Given the description of an element on the screen output the (x, y) to click on. 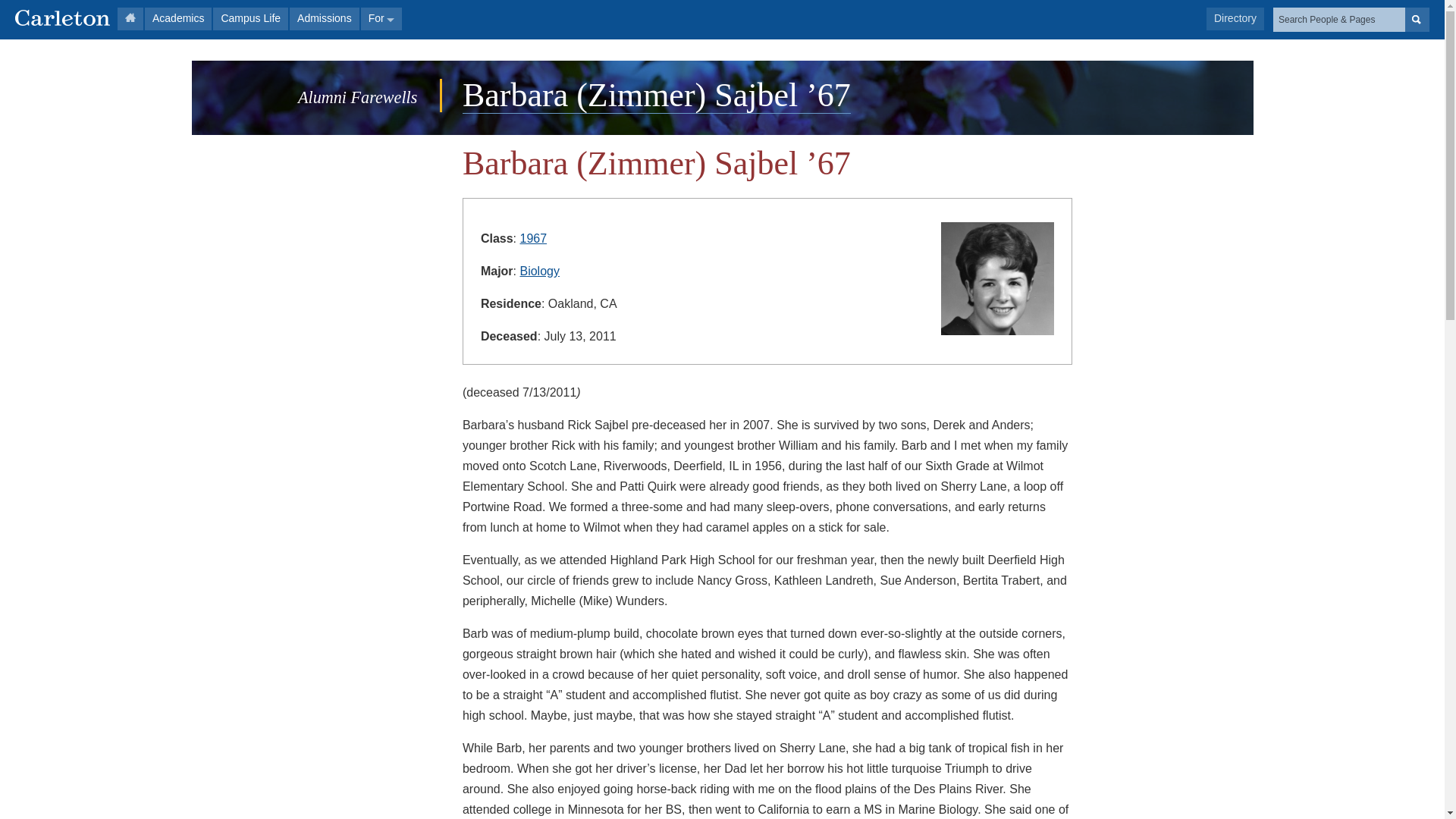
Campus Directory (1235, 18)
Campus Life (250, 18)
Directory (1235, 18)
Admissions (324, 18)
1967 (533, 237)
Academics (177, 18)
For (381, 18)
Biology (539, 270)
Alumni Farewells (357, 97)
